Given the description of an element on the screen output the (x, y) to click on. 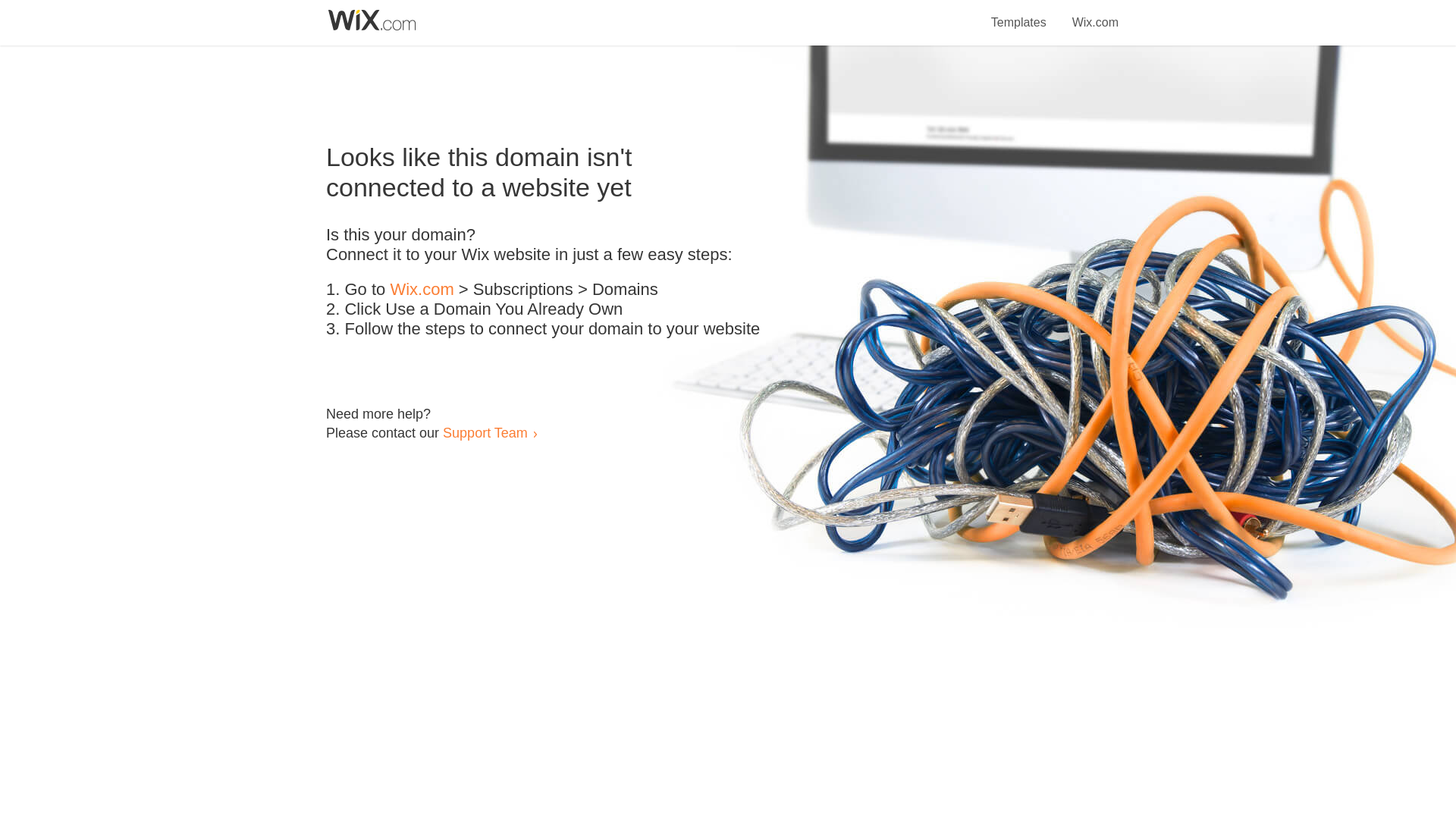
Support Team (484, 432)
Templates (1018, 14)
Wix.com (421, 289)
Wix.com (1095, 14)
